Given the description of an element on the screen output the (x, y) to click on. 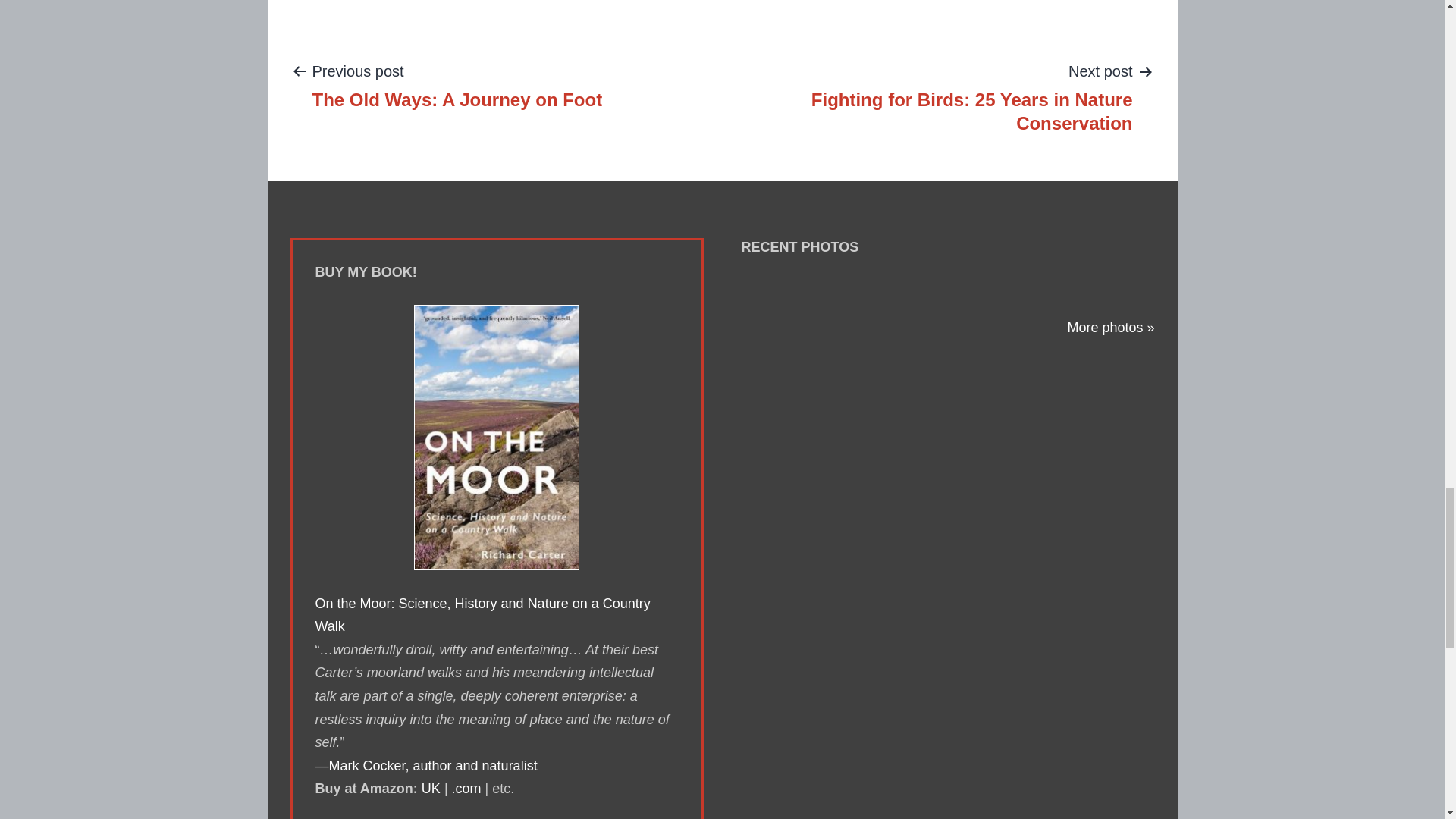
.com (466, 788)
UK (431, 788)
On the Moor: Science, History and Nature on a Country Walk (482, 615)
Mark Cocker, author and naturalist (433, 765)
View my photos on Flickr (456, 84)
